Given the description of an element on the screen output the (x, y) to click on. 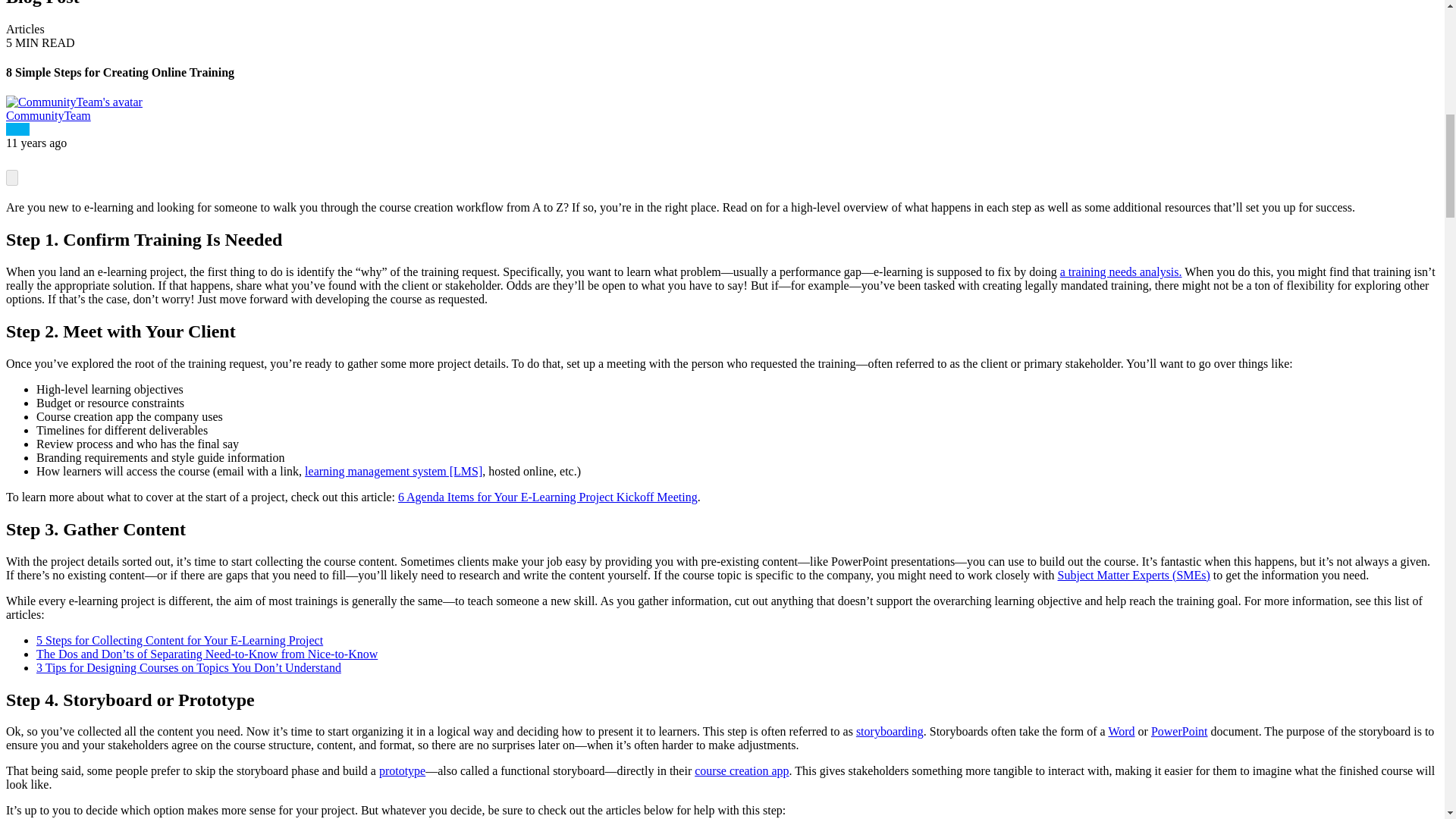
CommunityTeam (47, 115)
a training needs analysis. (1120, 271)
Word (1121, 730)
5 Steps for Collecting Content for Your E-Learning Project (179, 640)
course creation app (741, 770)
PowerPoint (1179, 730)
storyboarding (889, 730)
prototype (401, 770)
6 Agenda Items for Your E-Learning Project Kickoff Meeting (547, 496)
October 9, 2013 at 7:09 PM (35, 142)
